Given the description of an element on the screen output the (x, y) to click on. 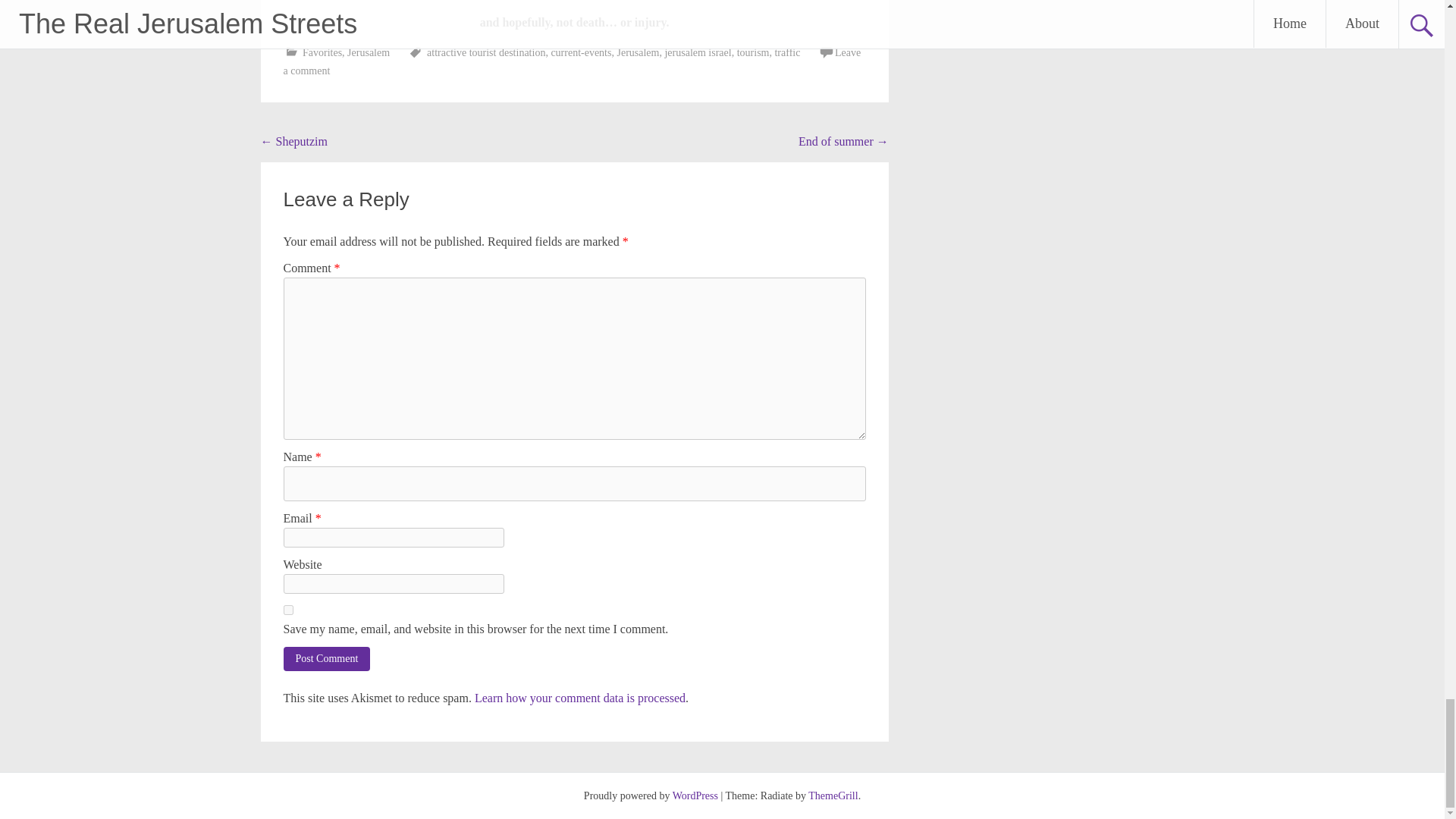
attractive tourist destination (485, 52)
Post Comment (327, 658)
yes (288, 610)
Jerusalem (368, 52)
traffic (786, 52)
Favorites (322, 52)
Leave a comment (572, 61)
tourism (753, 52)
Jerusalem (637, 52)
jerusalem israel (696, 52)
current-events (580, 52)
